Given the description of an element on the screen output the (x, y) to click on. 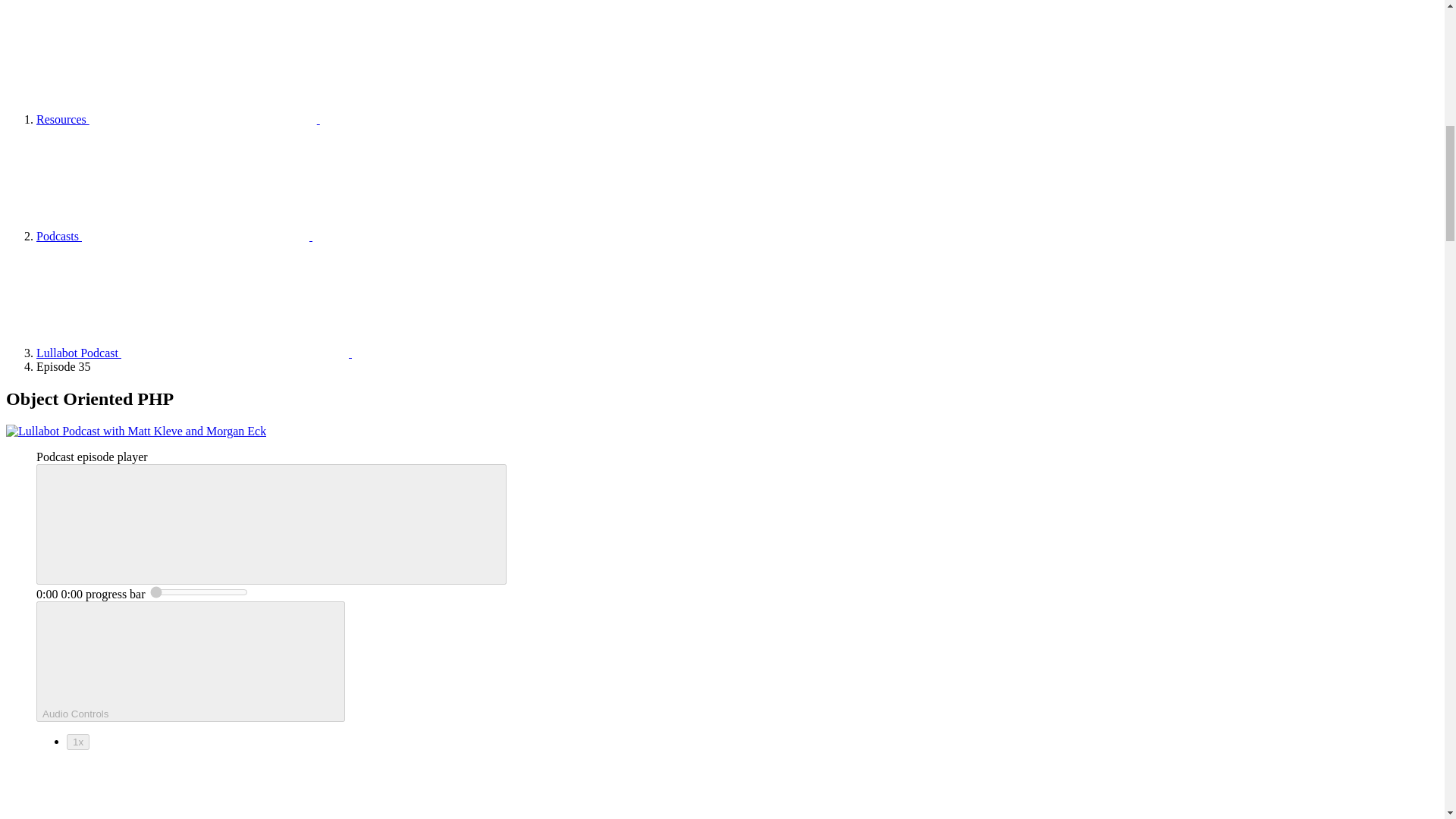
Resources (178, 119)
0 (198, 592)
Podcasts (174, 236)
Lullabot Podcast (194, 352)
Audio Controls (190, 661)
1x (77, 741)
